Given the description of an element on the screen output the (x, y) to click on. 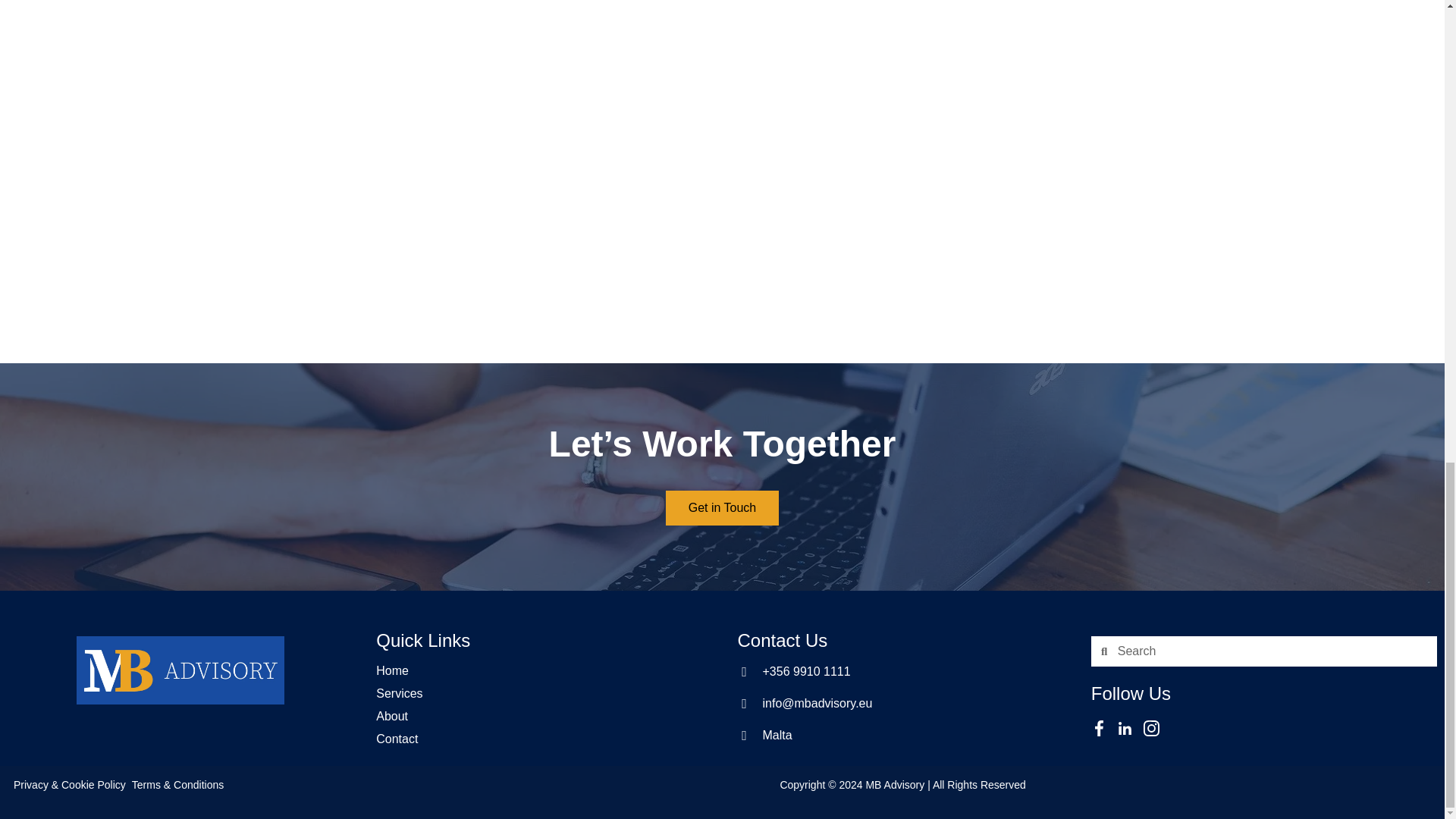
Get in Touch (721, 507)
Services (398, 693)
About (391, 716)
Home (392, 671)
